Given the description of an element on the screen output the (x, y) to click on. 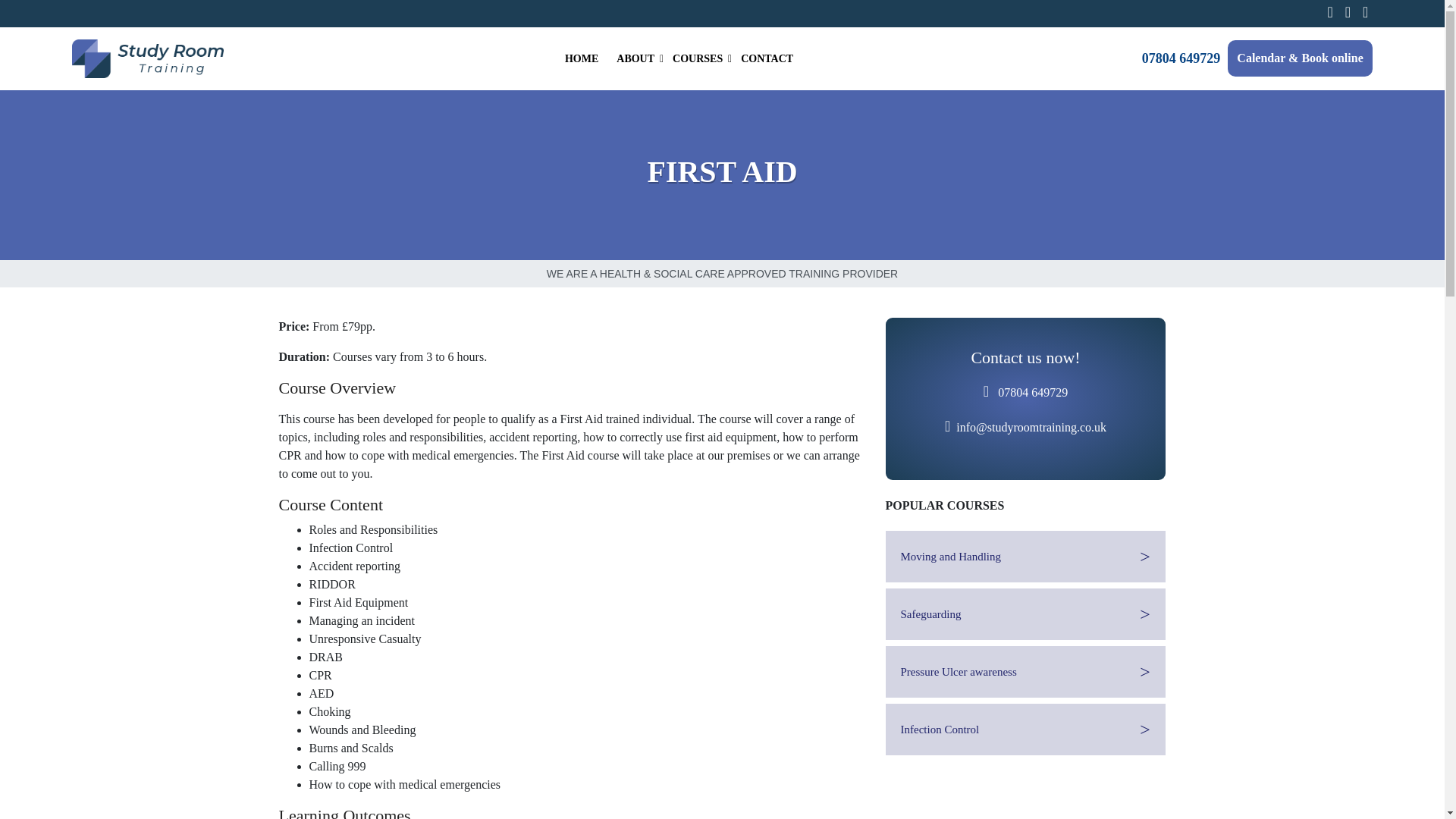
ABOUT (635, 58)
COURSES (679, 58)
HOME (697, 58)
